Given the description of an element on the screen output the (x, y) to click on. 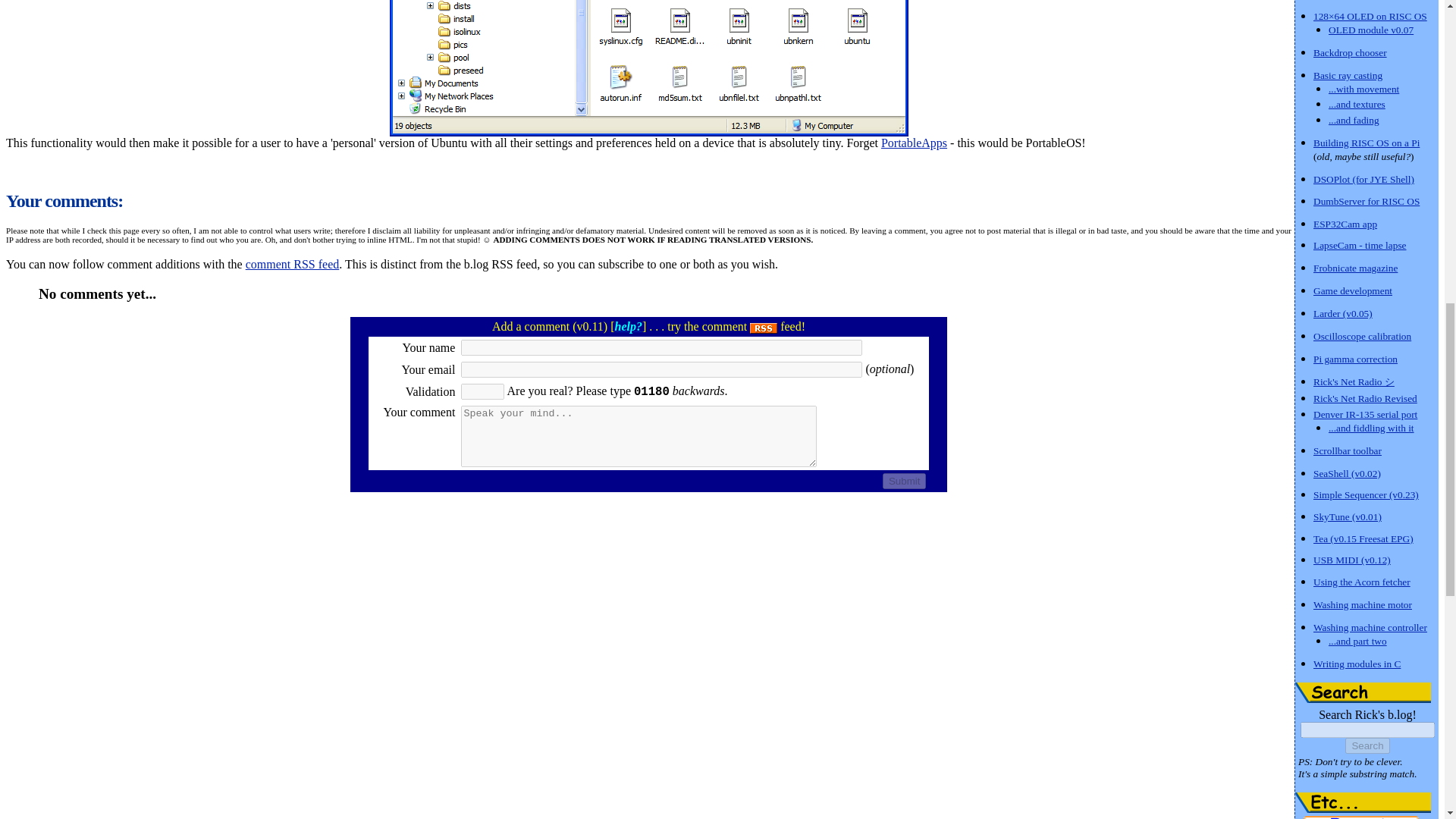
Submit (904, 480)
...and textures (1356, 103)
help? (628, 326)
...with movement (1363, 88)
Search (1363, 692)
Backdrop chooser (1350, 51)
Search (1367, 745)
PortableApps (913, 142)
comment RSS feed (292, 264)
Submit (904, 480)
